Given the description of an element on the screen output the (x, y) to click on. 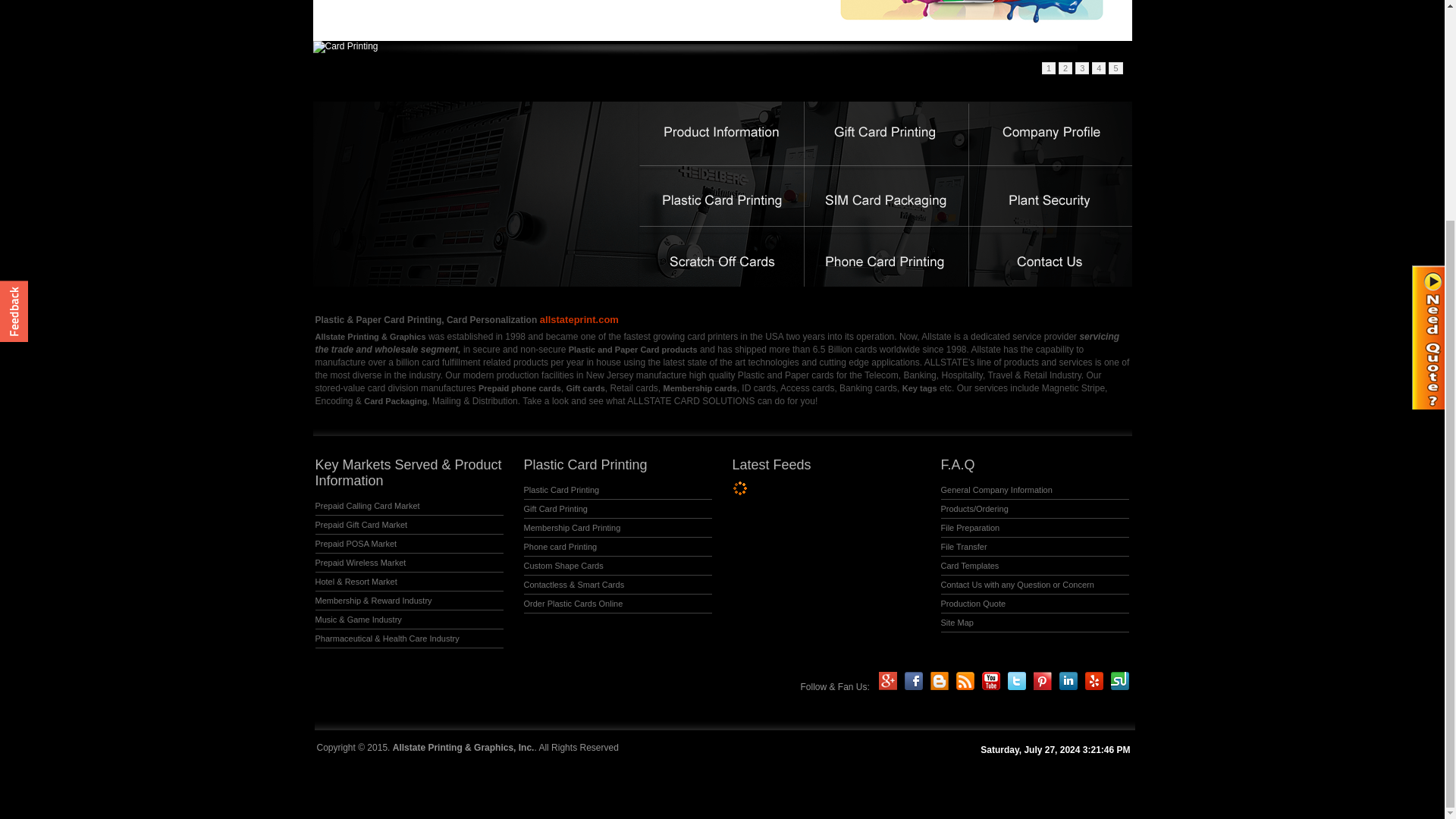
Gift cards (585, 388)
Card Design (722, 20)
Prepaid Calling Card Market (367, 505)
2 (1064, 68)
Prepaid phone cards (519, 388)
Membership cards (699, 388)
Plastic and Paper Card products (633, 348)
1 (1048, 68)
Prepaid Gift Card Market (361, 524)
Key tags (919, 388)
allstateprint.com (577, 319)
4 (1098, 68)
5 (1115, 68)
Card Packaging (395, 400)
